Given the description of an element on the screen output the (x, y) to click on. 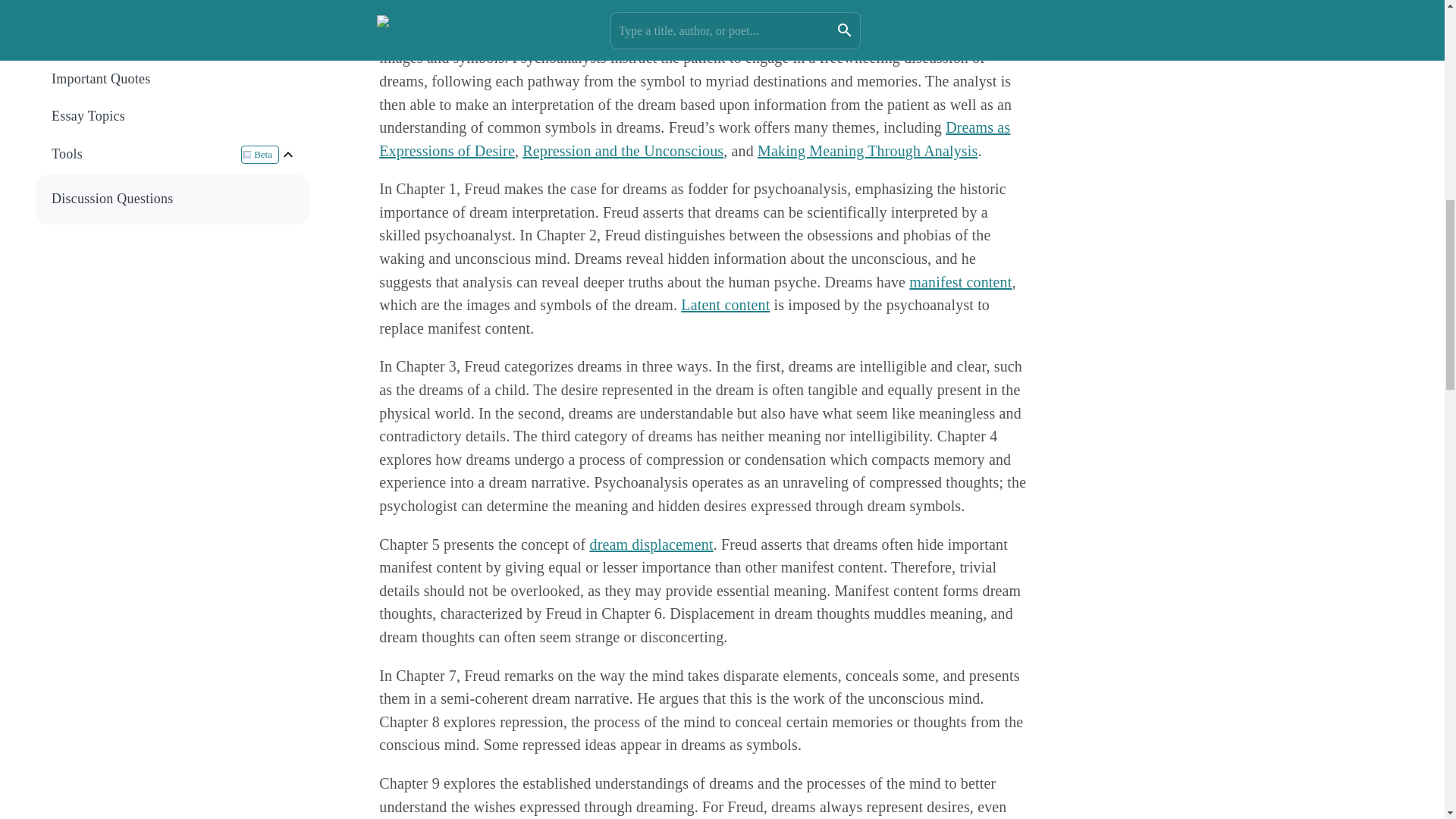
narrative (553, 11)
Tools (145, 154)
Themes (173, 6)
Themes (172, 10)
Index of Terms (172, 41)
Discussion Questions (173, 198)
dream thought (669, 11)
manifest content (959, 281)
Index of Terms (173, 41)
Making Meaning Through Analysis (866, 150)
